Given the description of an element on the screen output the (x, y) to click on. 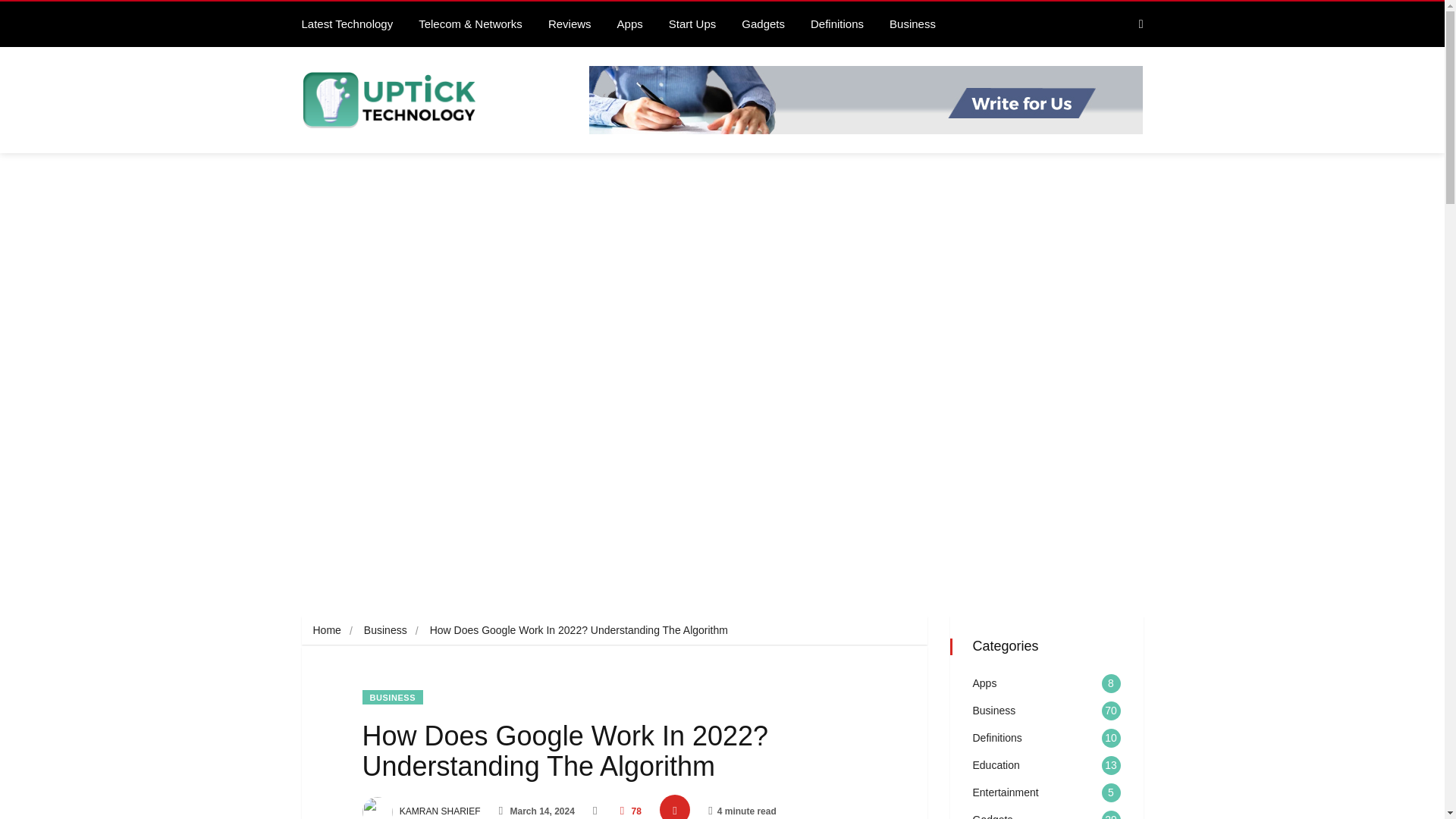
Apps (983, 683)
Gadgets (764, 23)
Apps (631, 23)
KAMRAN SHARIEF (421, 810)
Definitions (838, 23)
Latest Technology (348, 23)
Business (385, 630)
Home (326, 630)
Business (993, 710)
BUSINESS (392, 697)
Start Ups (694, 23)
Business (913, 23)
Reviews (571, 23)
